Given the description of an element on the screen output the (x, y) to click on. 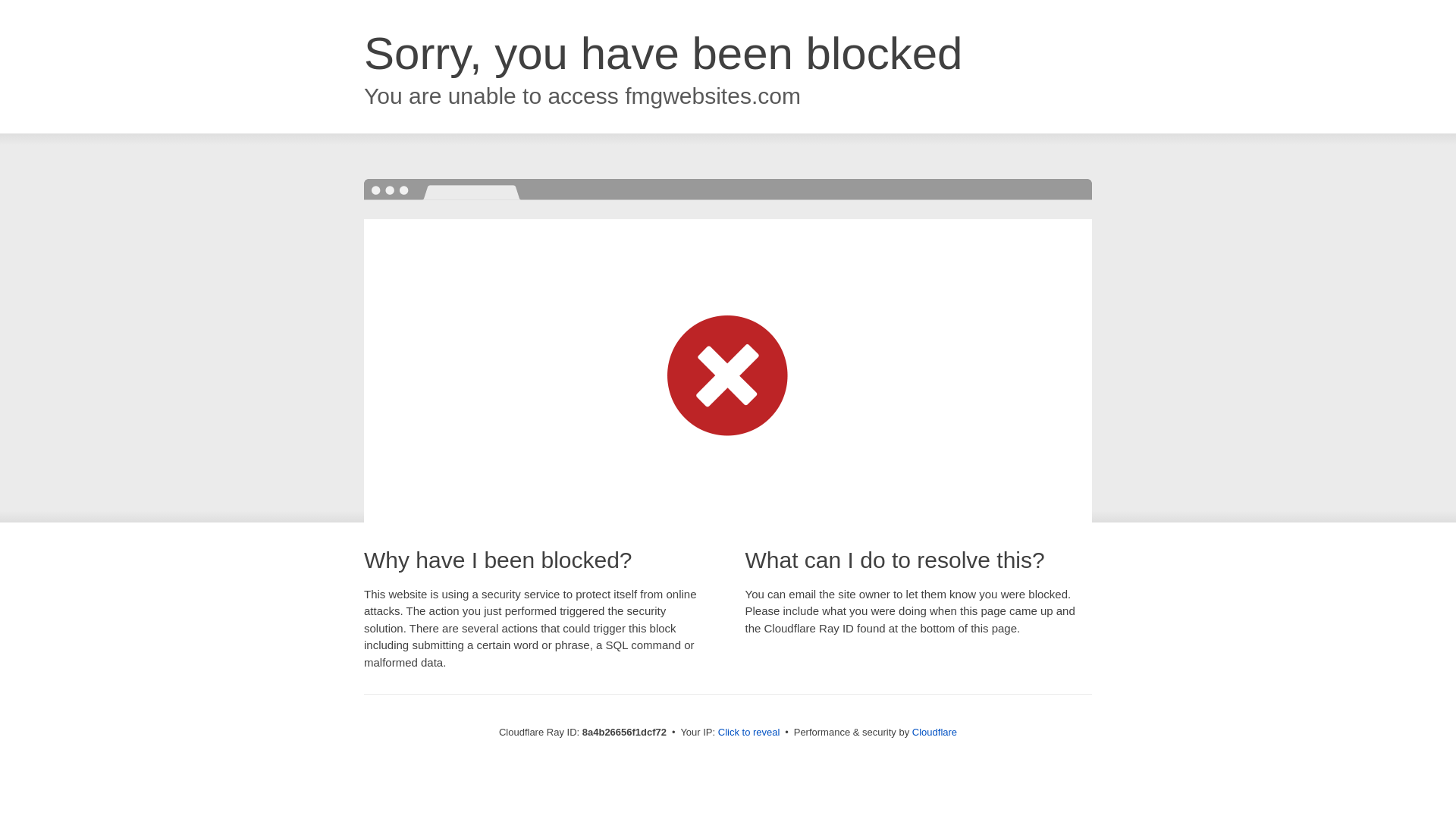
Click to reveal (748, 732)
Cloudflare (934, 731)
